Given the description of an element on the screen output the (x, y) to click on. 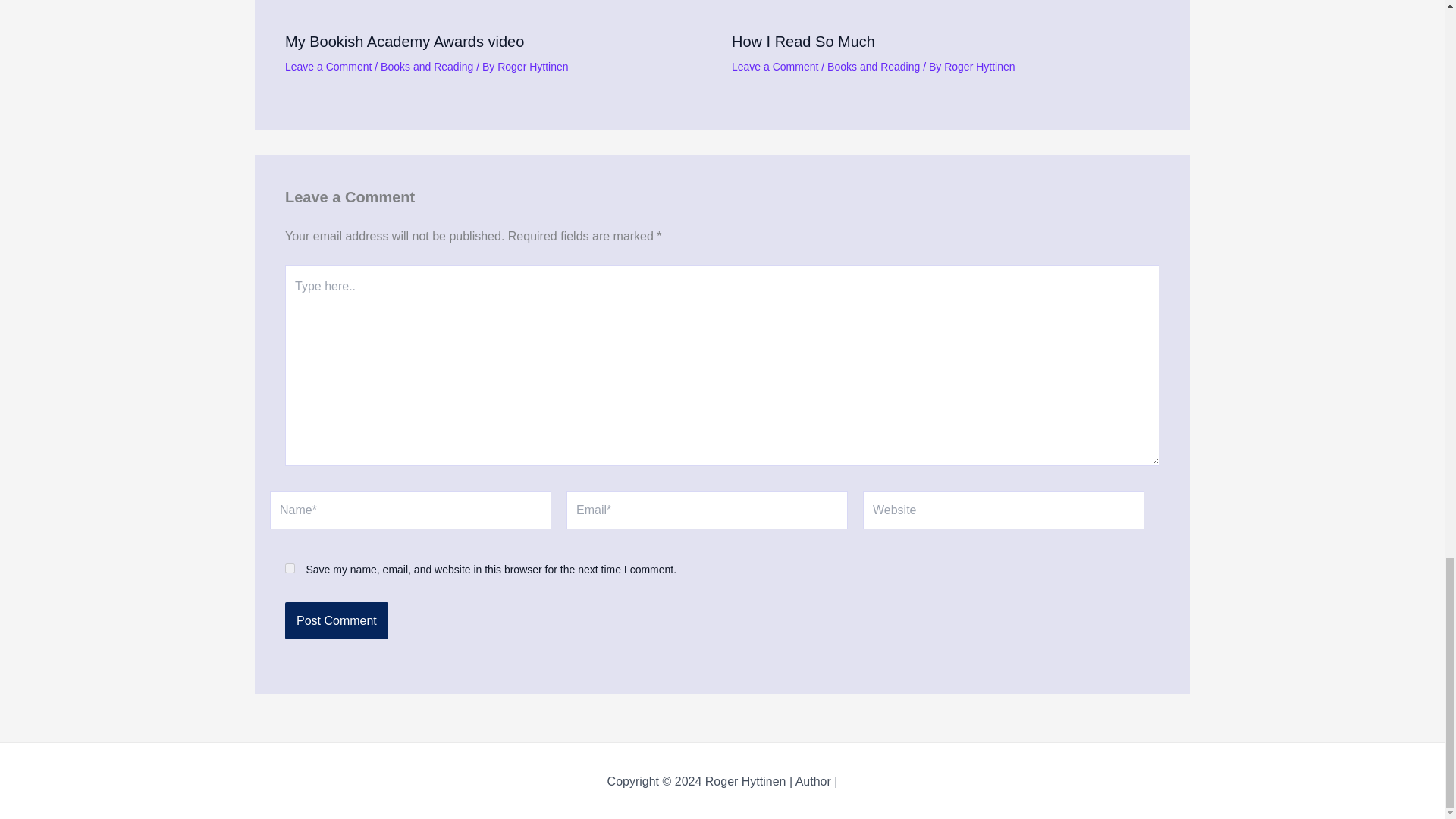
View all posts by Roger Hyttinen (978, 66)
View all posts by Roger Hyttinen (532, 66)
yes (290, 568)
Post Comment (336, 620)
